Given the description of an element on the screen output the (x, y) to click on. 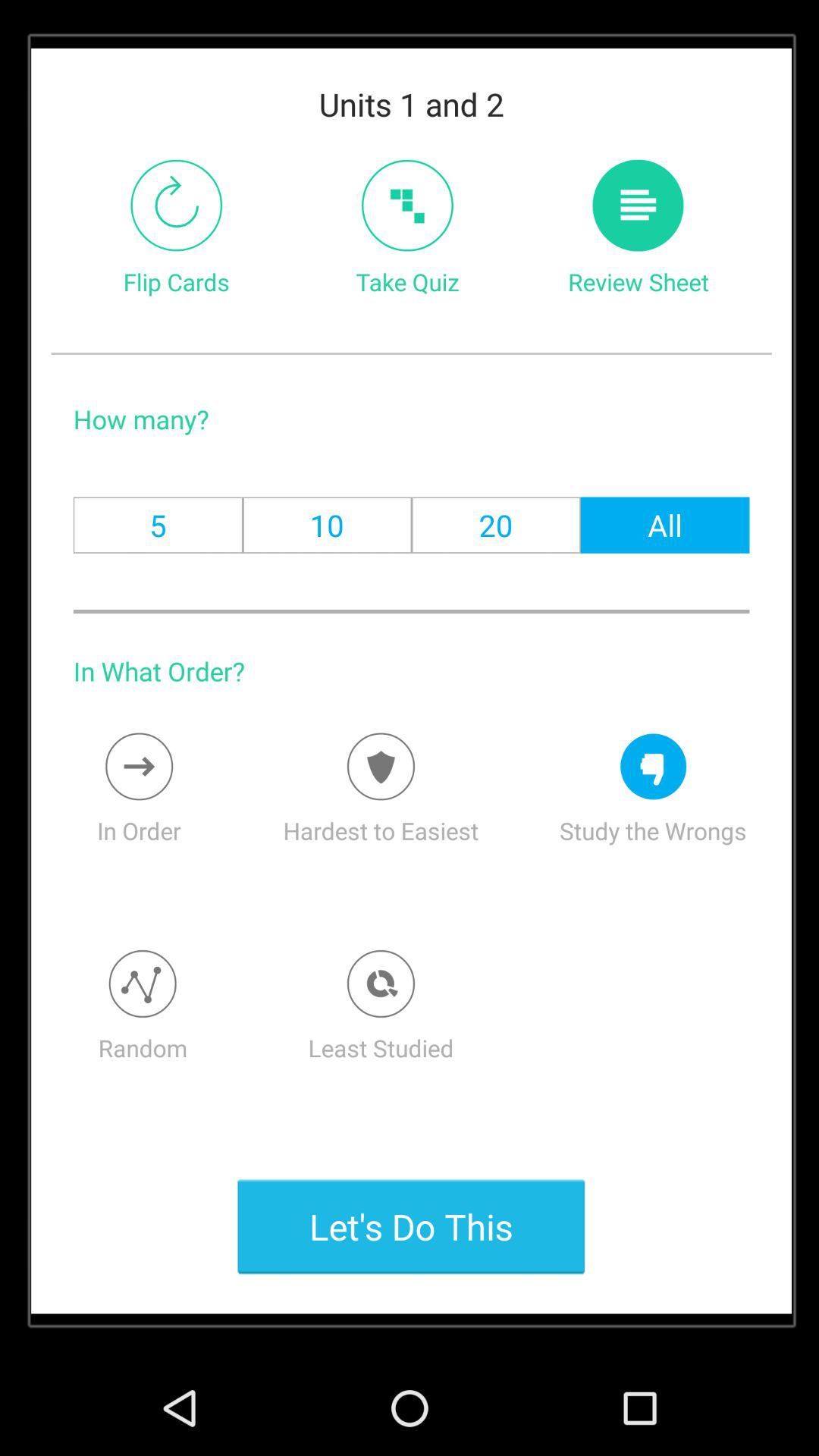
switches a difficulty setting (380, 766)
